Given the description of an element on the screen output the (x, y) to click on. 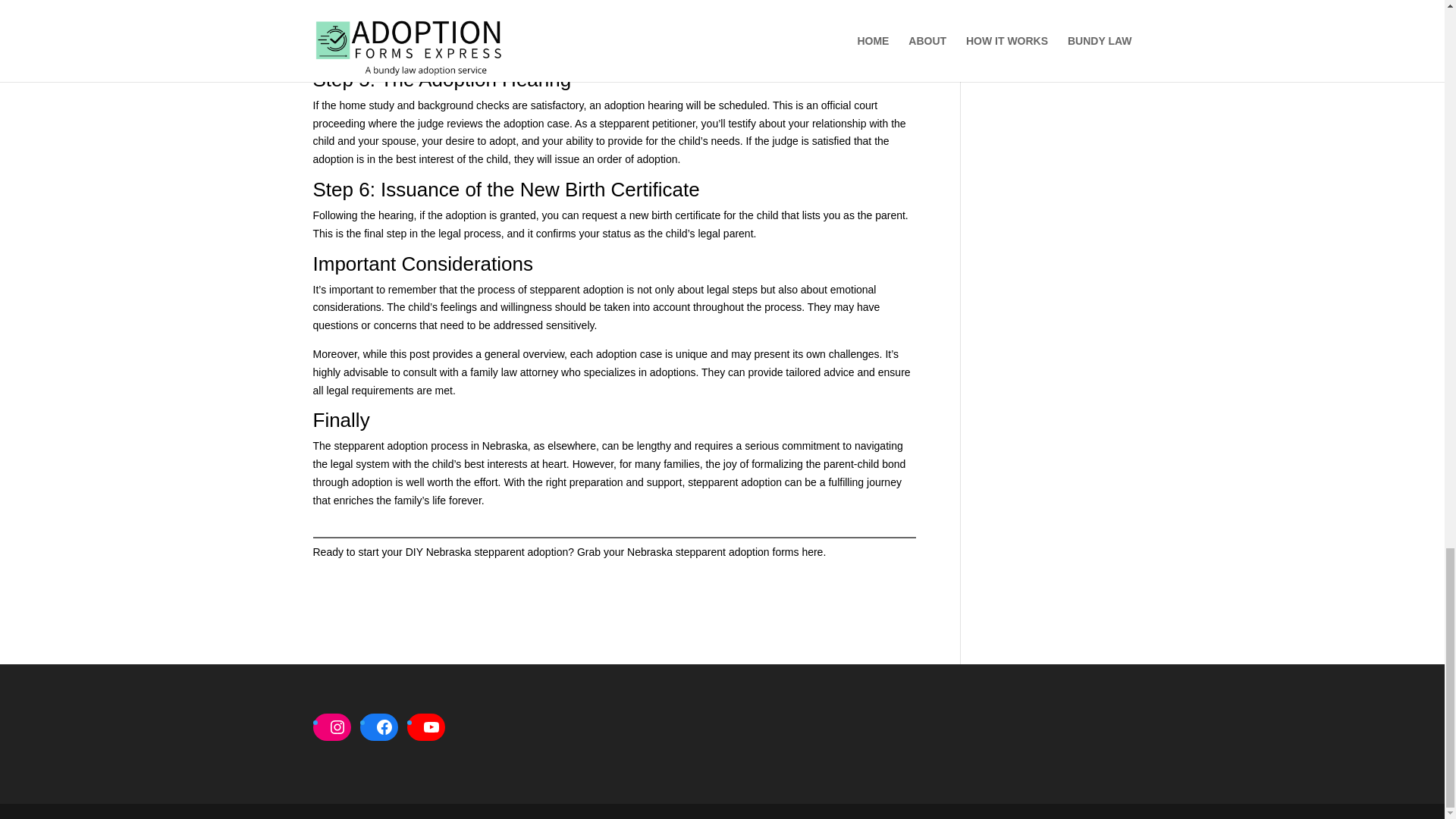
YouTube (430, 727)
Facebook (383, 727)
Grab your Nebraska stepparent adoption forms here (700, 551)
Instagram (336, 727)
